Given the description of an element on the screen output the (x, y) to click on. 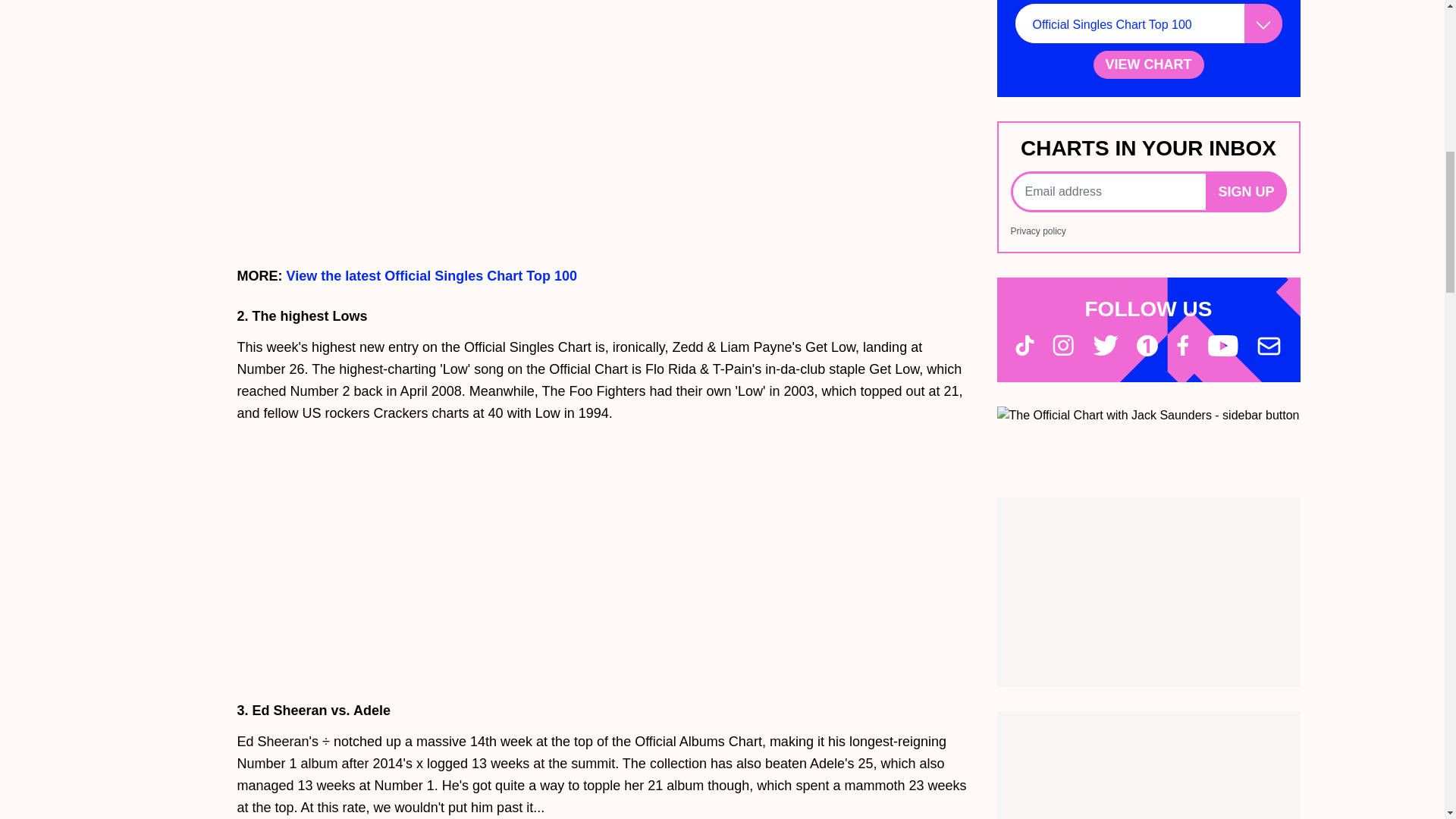
View the latest Official Singles Chart Top 100 (431, 275)
Listen to The Official Chart on BBC Radio 1 (1147, 415)
View chart (1148, 64)
